Given the description of an element on the screen output the (x, y) to click on. 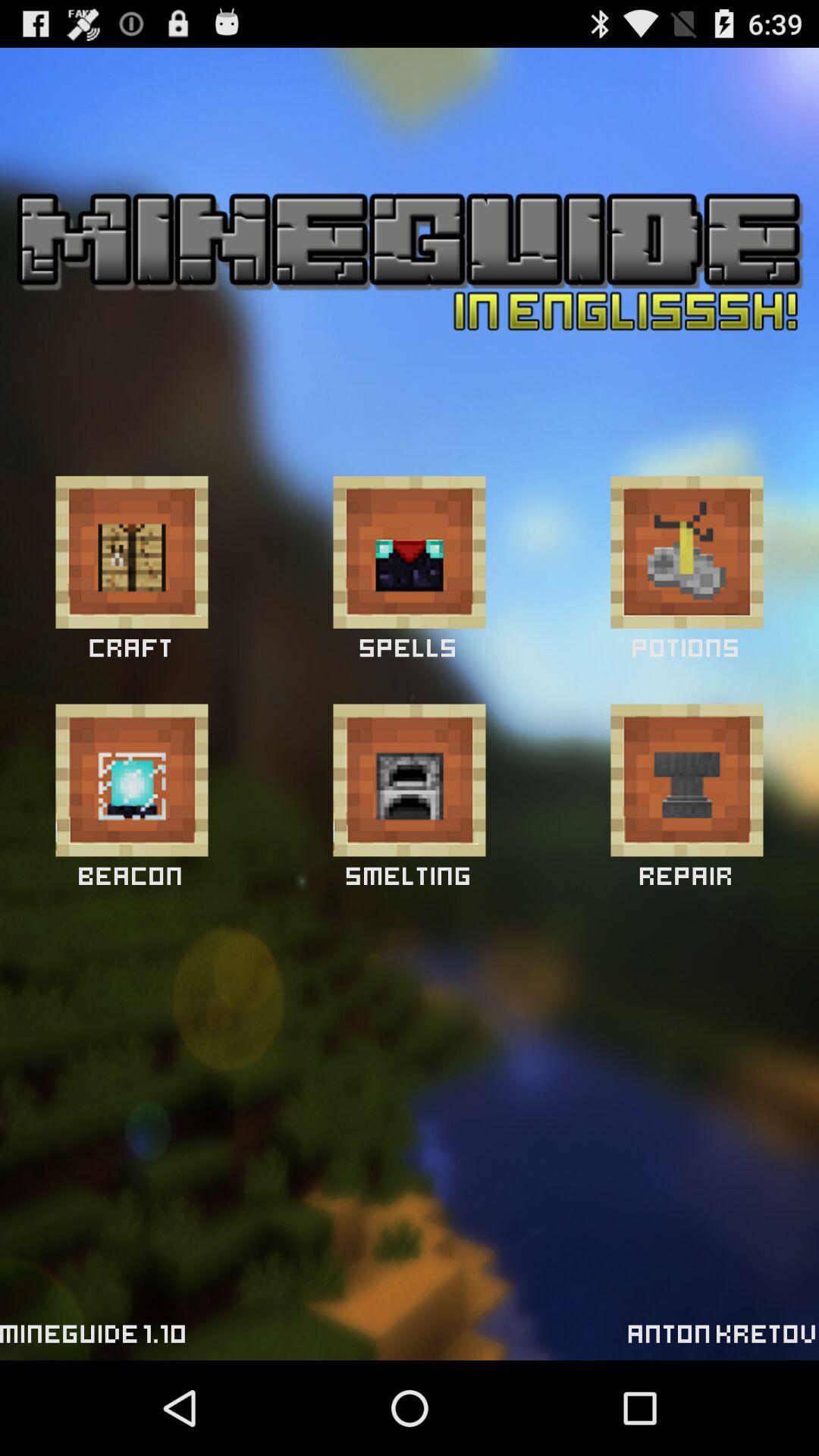
craft item (686, 780)
